Given the description of an element on the screen output the (x, y) to click on. 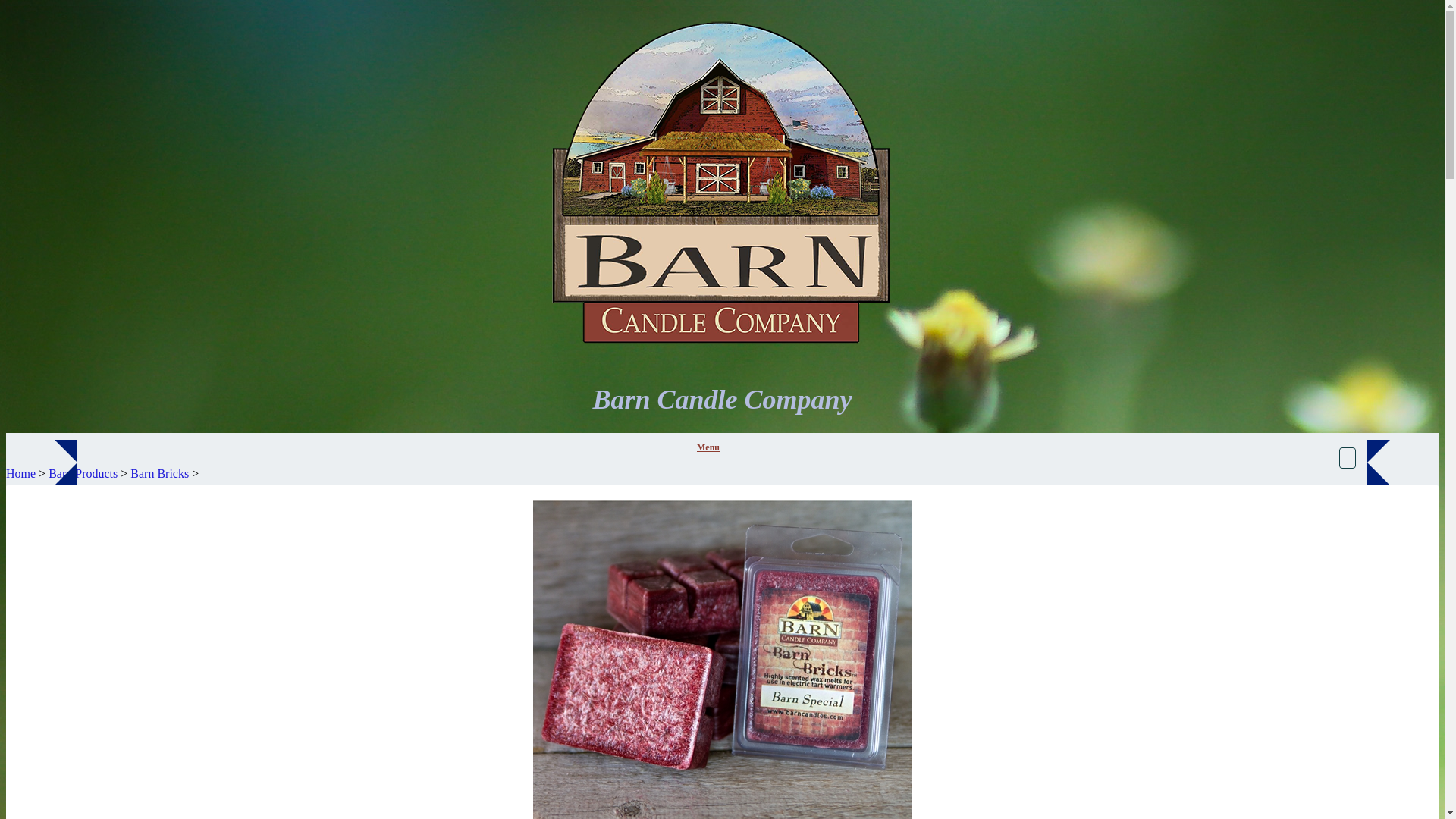
Barn Bricks (160, 472)
Home (19, 472)
Menu (708, 447)
Barn Products (82, 472)
